Given the description of an element on the screen output the (x, y) to click on. 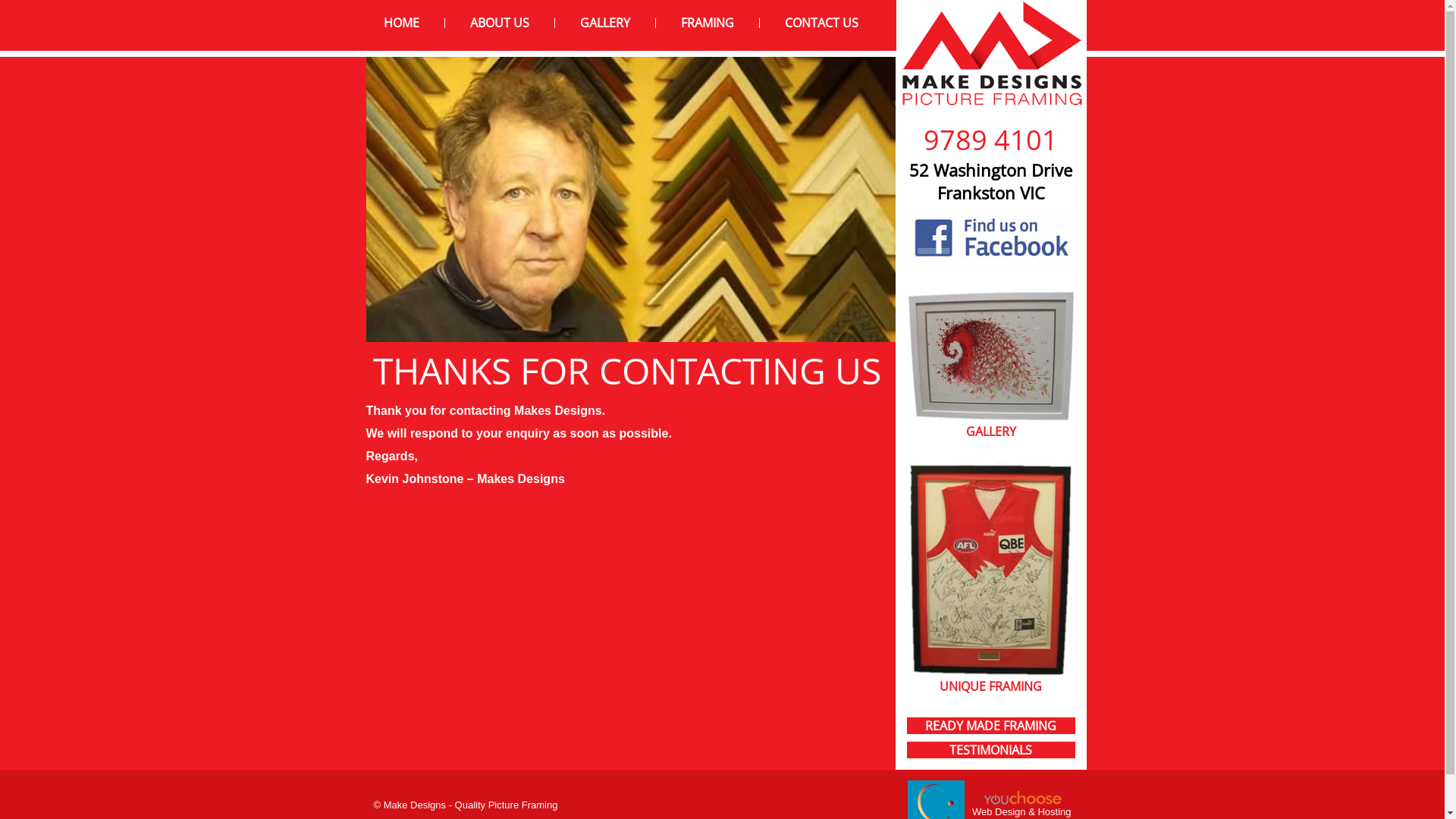
ABOUT US Element type: text (499, 23)
FRAMING Element type: text (707, 23)
UNIQUE FRAMING Element type: text (990, 685)
GALLERY Element type: text (991, 431)
CONTACT US Element type: text (820, 23)
READY MADE FRAMING Element type: text (990, 725)
TESTIMONIALS Element type: text (990, 749)
Web Design & Hosting Element type: text (1021, 811)
GALLERY Element type: text (604, 23)
HOME Element type: text (401, 23)
